Given the description of an element on the screen output the (x, y) to click on. 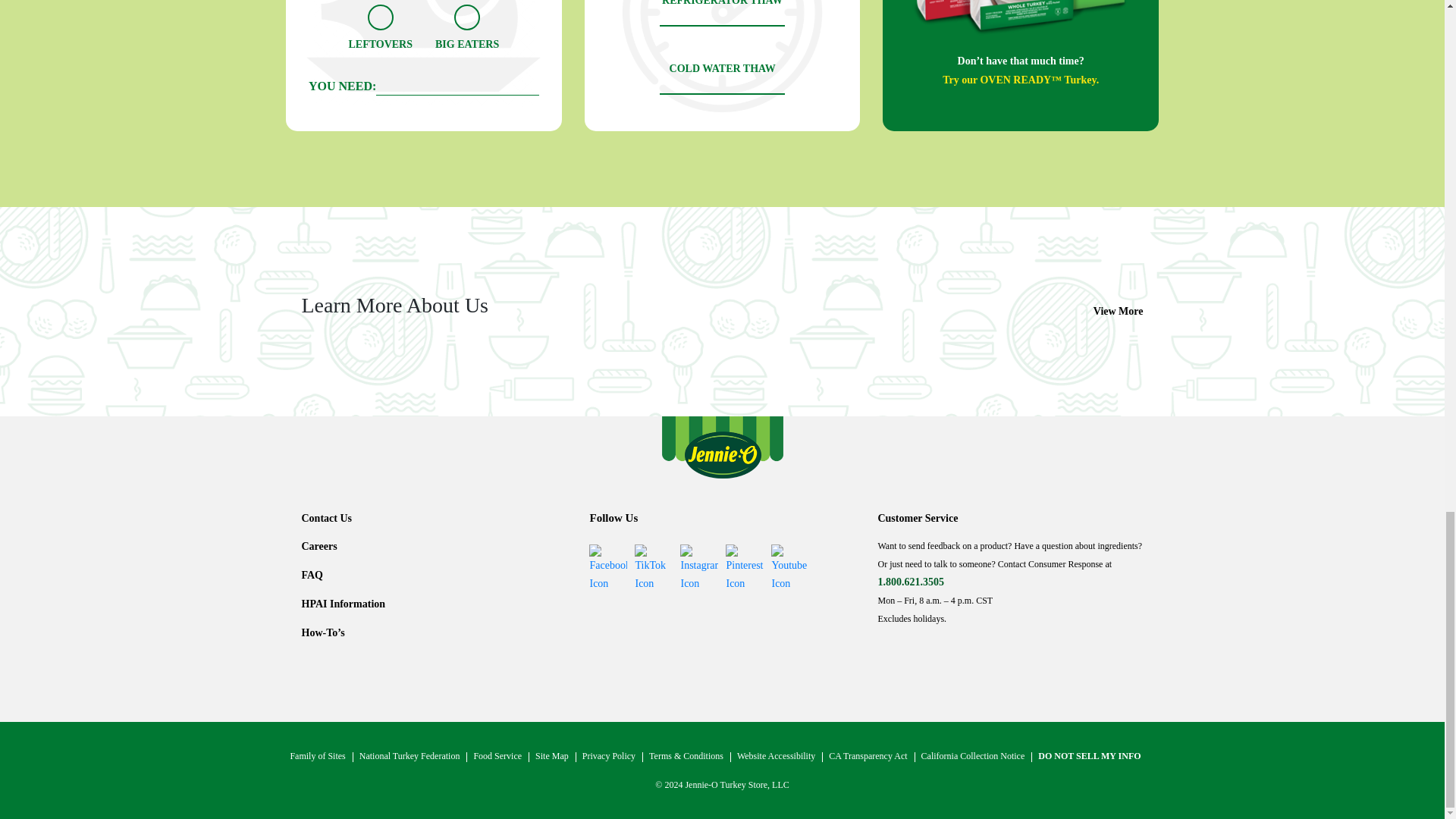
View More (1117, 311)
Contact Us (326, 518)
FAQ (312, 574)
Careers (319, 546)
